Given the description of an element on the screen output the (x, y) to click on. 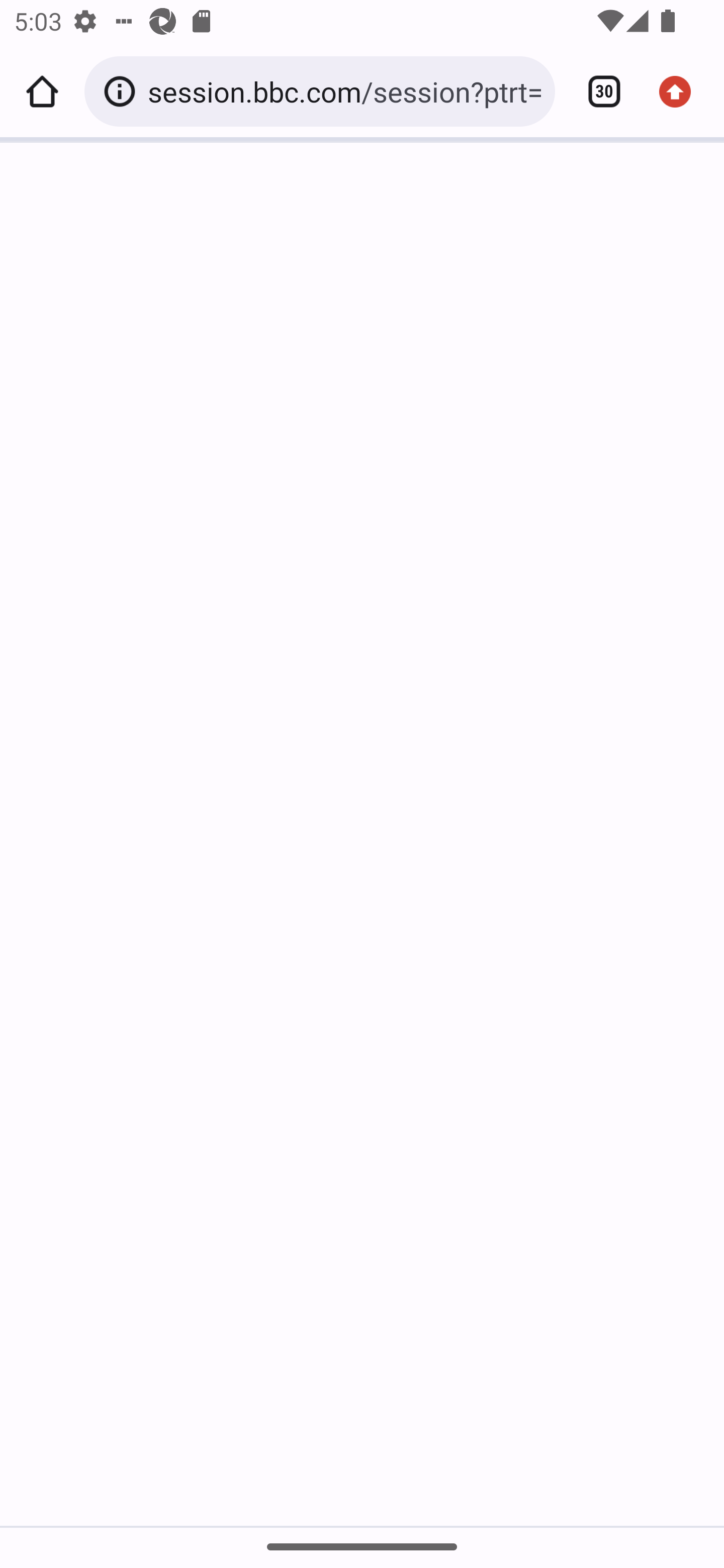
Home (42, 91)
Your connection to this site is not secure (122, 91)
Switch or close tabs (597, 91)
Update available. More options (681, 91)
